Given the description of an element on the screen output the (x, y) to click on. 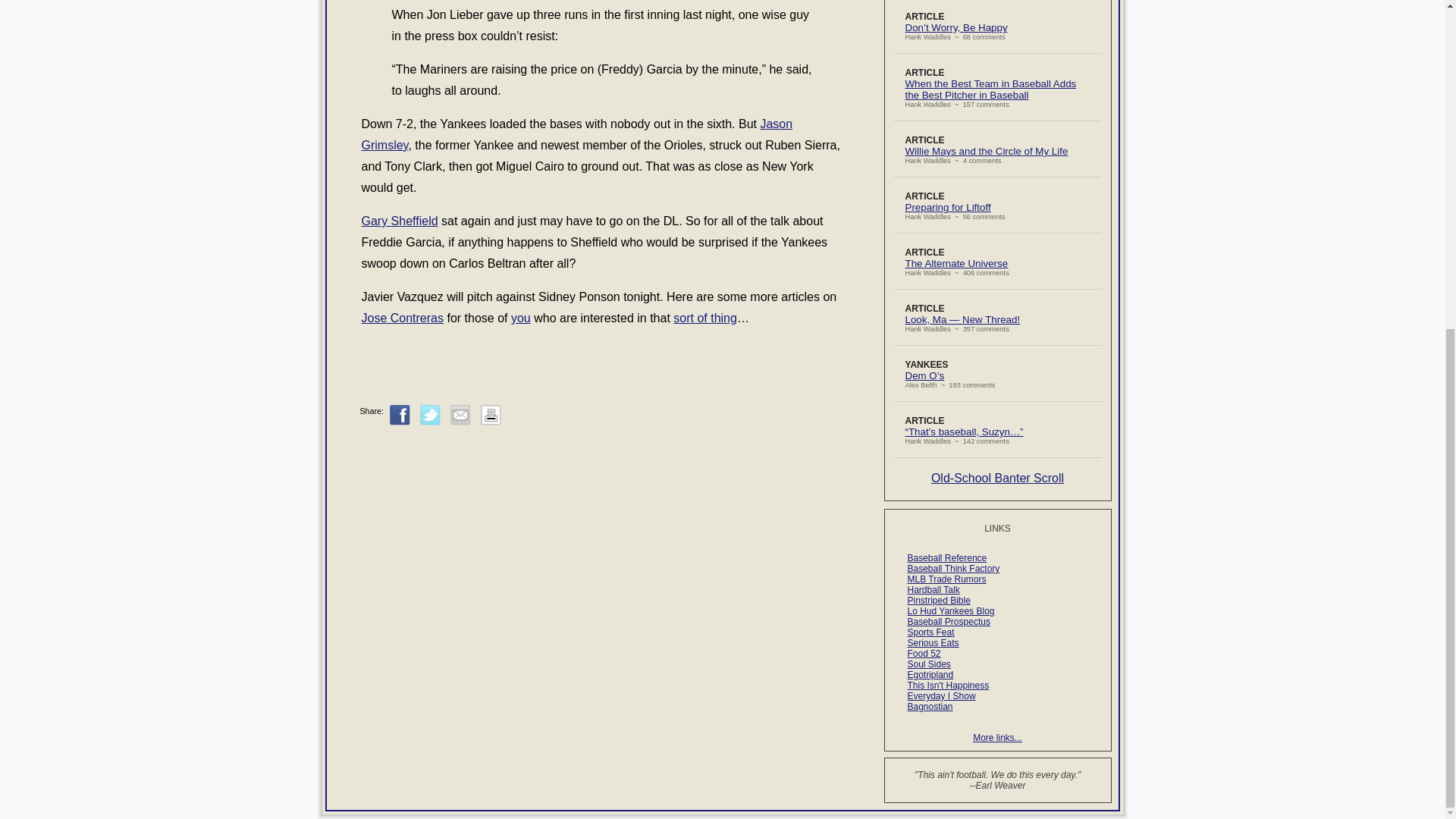
Share via email (459, 414)
Share on Facebook (400, 414)
Permanent link to The Alternate Universe (957, 263)
Permanent link to Willie Mays and the Circle of My Life (986, 151)
Share on Twitter (430, 414)
Print This Post (490, 414)
Permanent link to Preparing for Liftoff (948, 206)
Print This Post (490, 421)
